Given the description of an element on the screen output the (x, y) to click on. 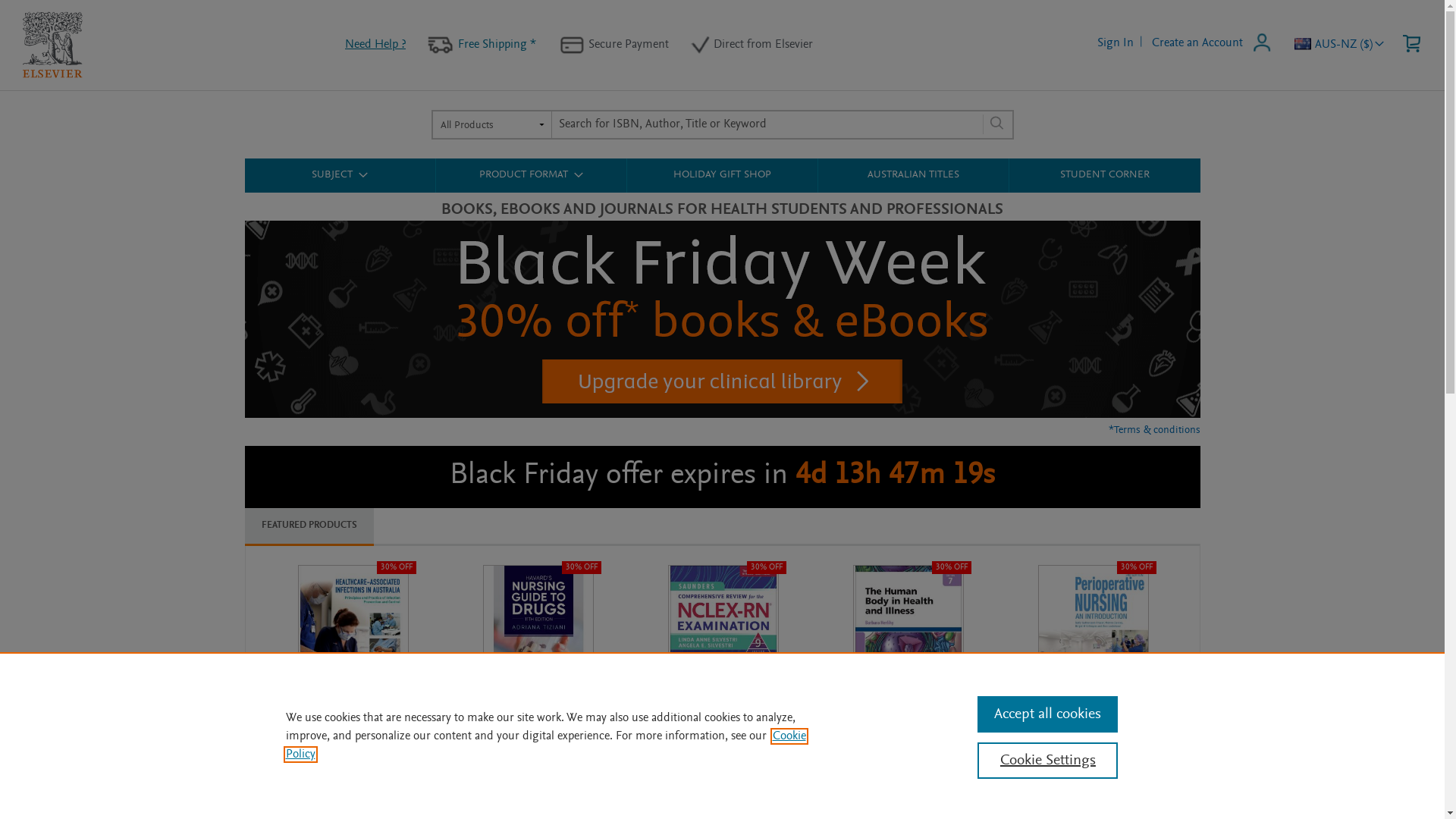
Havard's Nursing Guide to Drugs Element type: text (537, 730)
Search Element type: hover (993, 124)
Accept all cookies Element type: text (1047, 714)
The Human Body in Health and Illness Element type: text (893, 730)
AUS-NZ ($) Element type: text (1350, 44)
30% OFF
Book Element type: text (907, 638)
Healthcare-Associated Infections in Australia Element type: text (343, 730)
30% OFF
Book Element type: text (722, 638)
Need Help ? Element type: text (375, 44)
STUDENT CORNER Element type: text (1104, 175)
HOLIDAY GIFT SHOP Element type: text (722, 175)
30% OFF
Book Element type: text (537, 638)
SUBJECT Element type: text (339, 174)
Black Friday Week Element type: hover (721, 415)
Create an Account Element type: text (1196, 43)
Free Shipping * Element type: text (497, 44)
Cookie Policy Element type: text (545, 745)
AUSTRALIAN TITLES Element type: text (913, 175)
Black Friday Week Element type: hover (721, 318)
*Terms & conditions Element type: text (1154, 430)
30% OFF
Book Element type: text (1092, 638)
30% OFF
Book Element type: text (352, 638)
Perioperative Nursing Element type: text (1082, 724)
FEATURED PRODUCTS Element type: text (308, 525)
Sign In Element type: text (1115, 43)
My Cart Element type: text (1410, 44)
PRODUCT FORMAT Element type: text (531, 174)
Cookie Settings Element type: text (1047, 760)
